Given the description of an element on the screen output the (x, y) to click on. 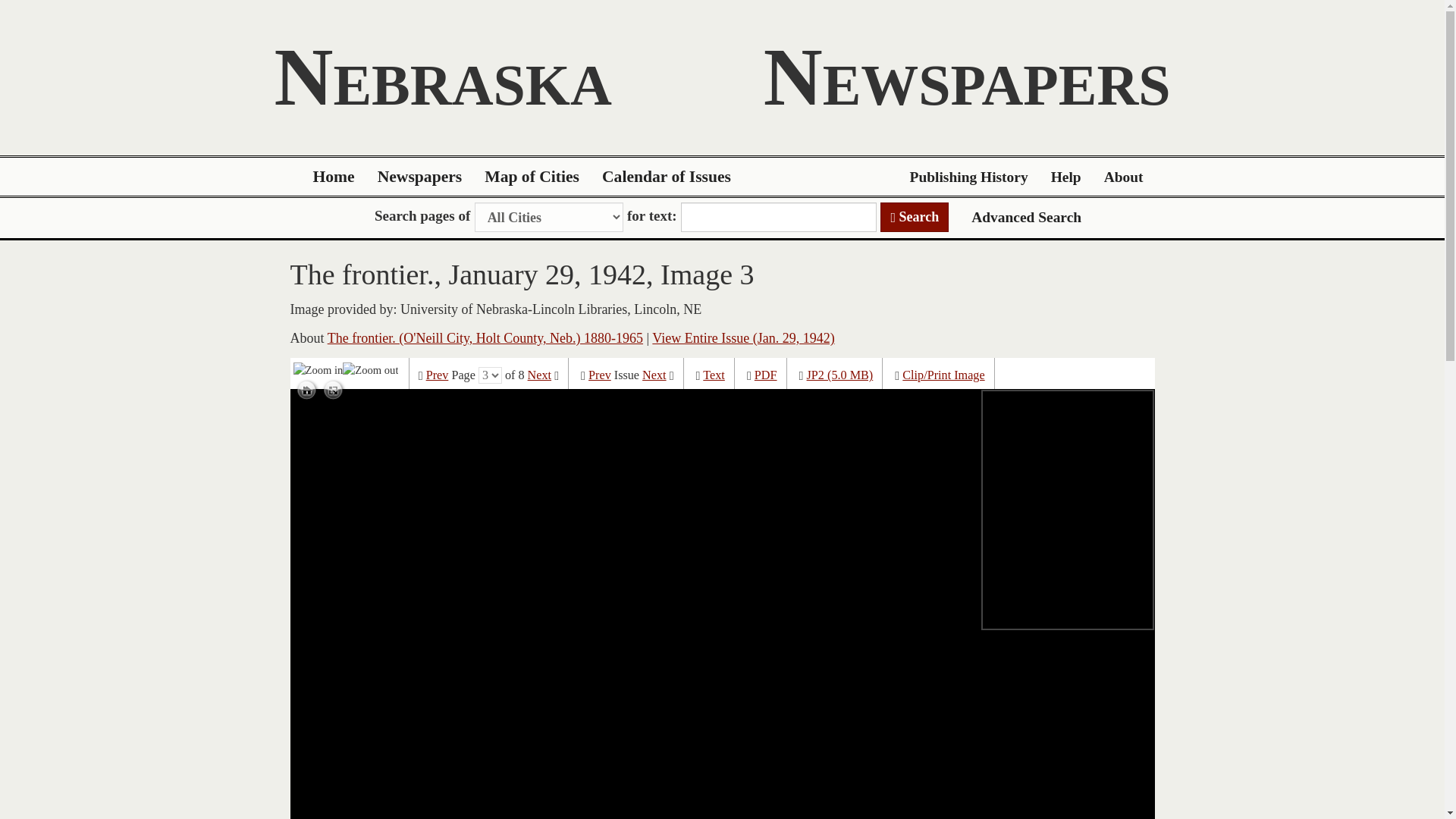
Zoom in (318, 369)
Search (914, 217)
Help (1066, 176)
Prev (437, 375)
Home (333, 176)
Zoom out (369, 369)
Prev (599, 375)
Calendar of Issues (666, 176)
PDF (765, 375)
Toggle full page (333, 391)
